Given the description of an element on the screen output the (x, y) to click on. 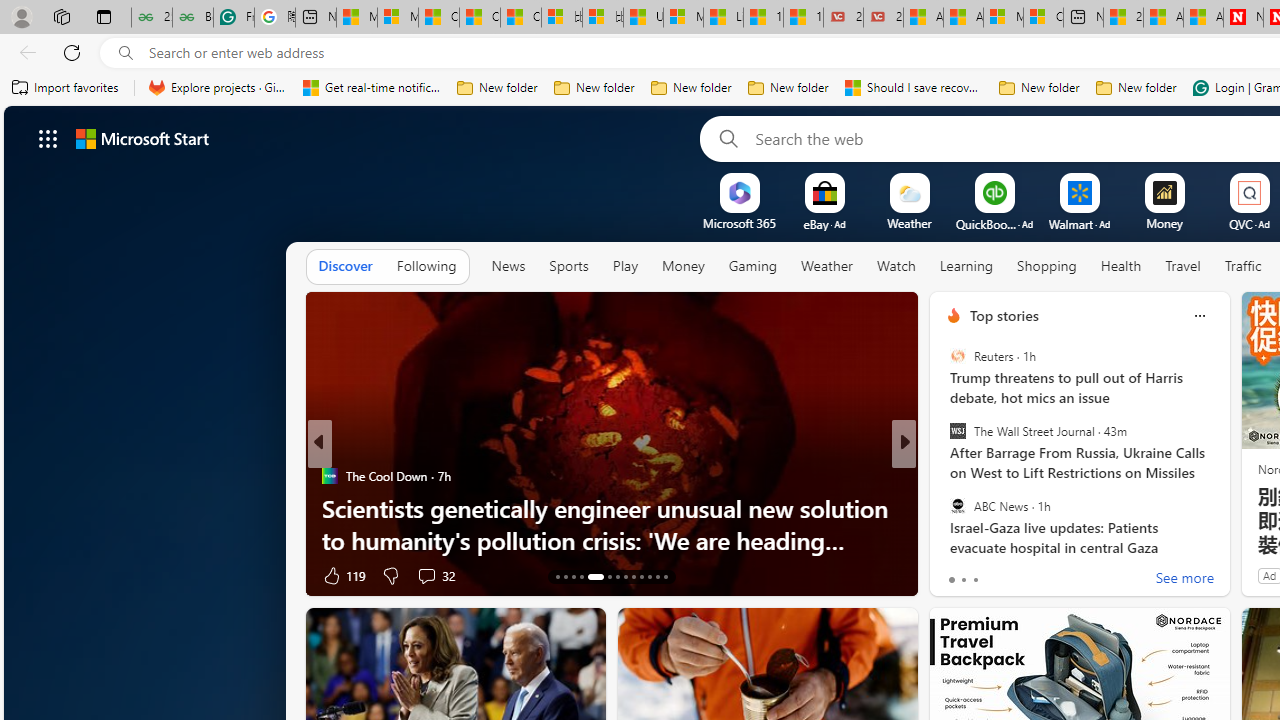
View comments 15 Comment (1051, 574)
The Wall Street Journal (957, 431)
33 Like (956, 574)
138 Like (959, 574)
Morning Carpool (944, 475)
AutomationID: tab-17 (594, 576)
